Given the description of an element on the screen output the (x, y) to click on. 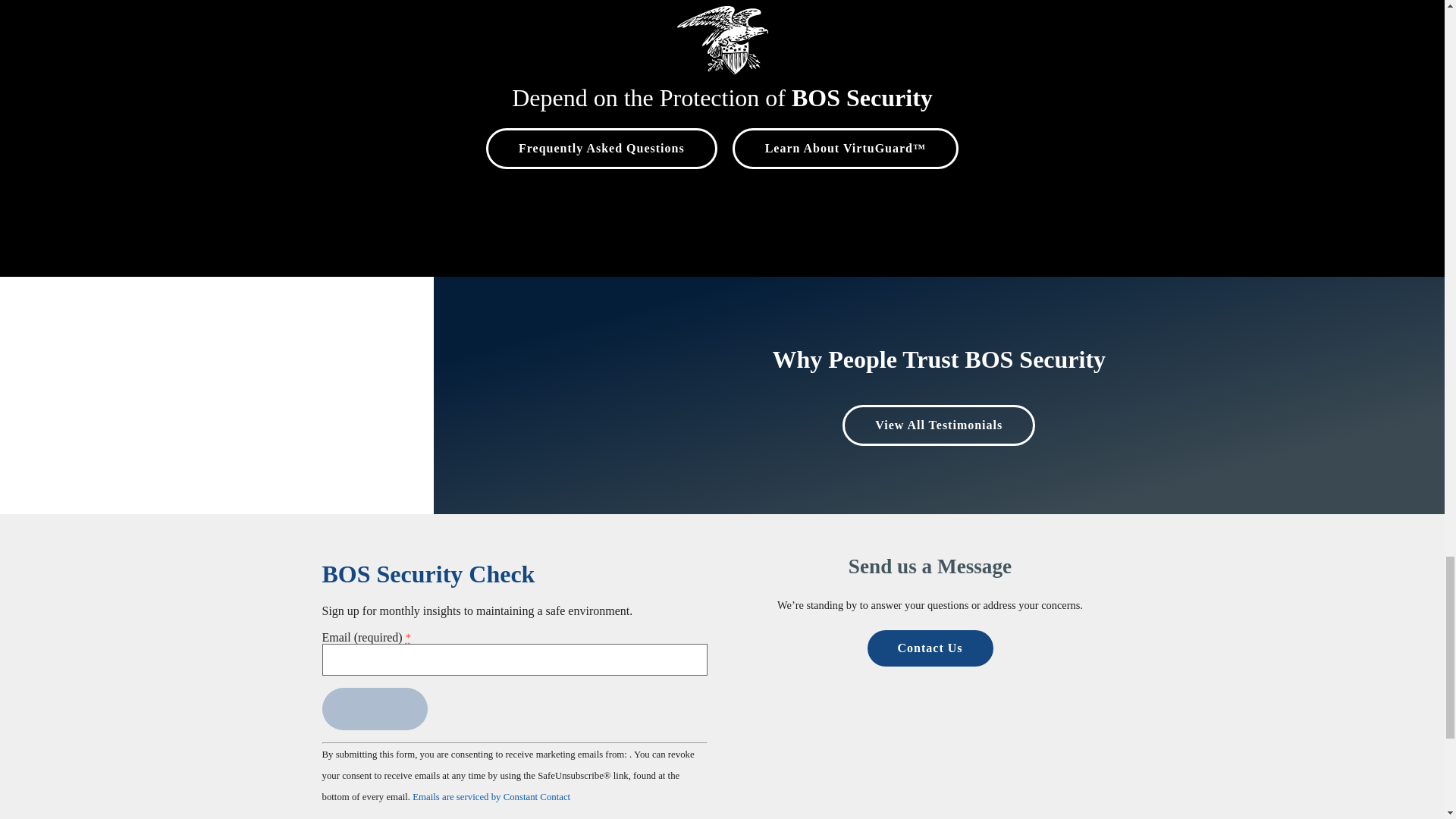
Sign up (373, 708)
